Given the description of an element on the screen output the (x, y) to click on. 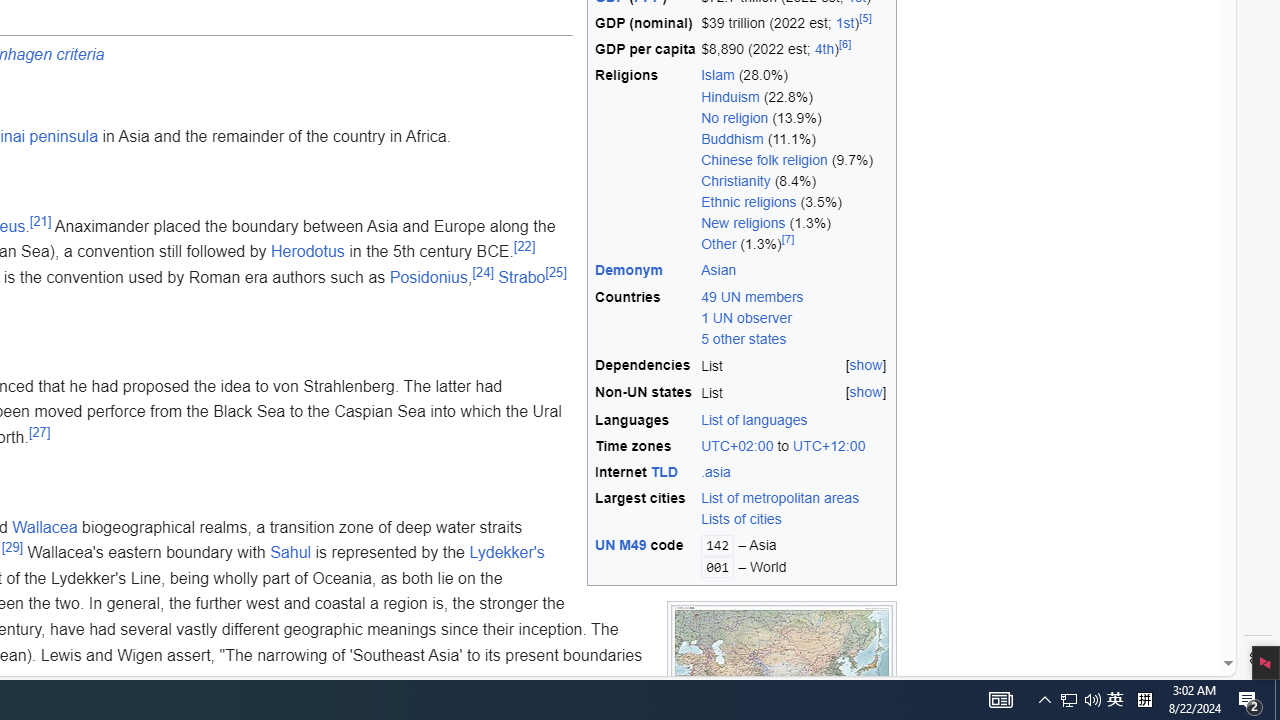
GDP per capita (645, 49)
[24] (483, 272)
49 UN members 1 UN observer 5 other states (752, 317)
Hinduism (730, 96)
Herodotus (308, 251)
.asia (715, 471)
UN M49 code (645, 556)
Hinduism (22.8%) (795, 96)
49 UN members 1 UN observer 5 other states (795, 318)
Christianity (8.4%) (795, 181)
TLD (664, 471)
1st (844, 23)
Non-UN states (645, 393)
UTC+02:00 to UTC+12:00 (795, 446)
